Given the description of an element on the screen output the (x, y) to click on. 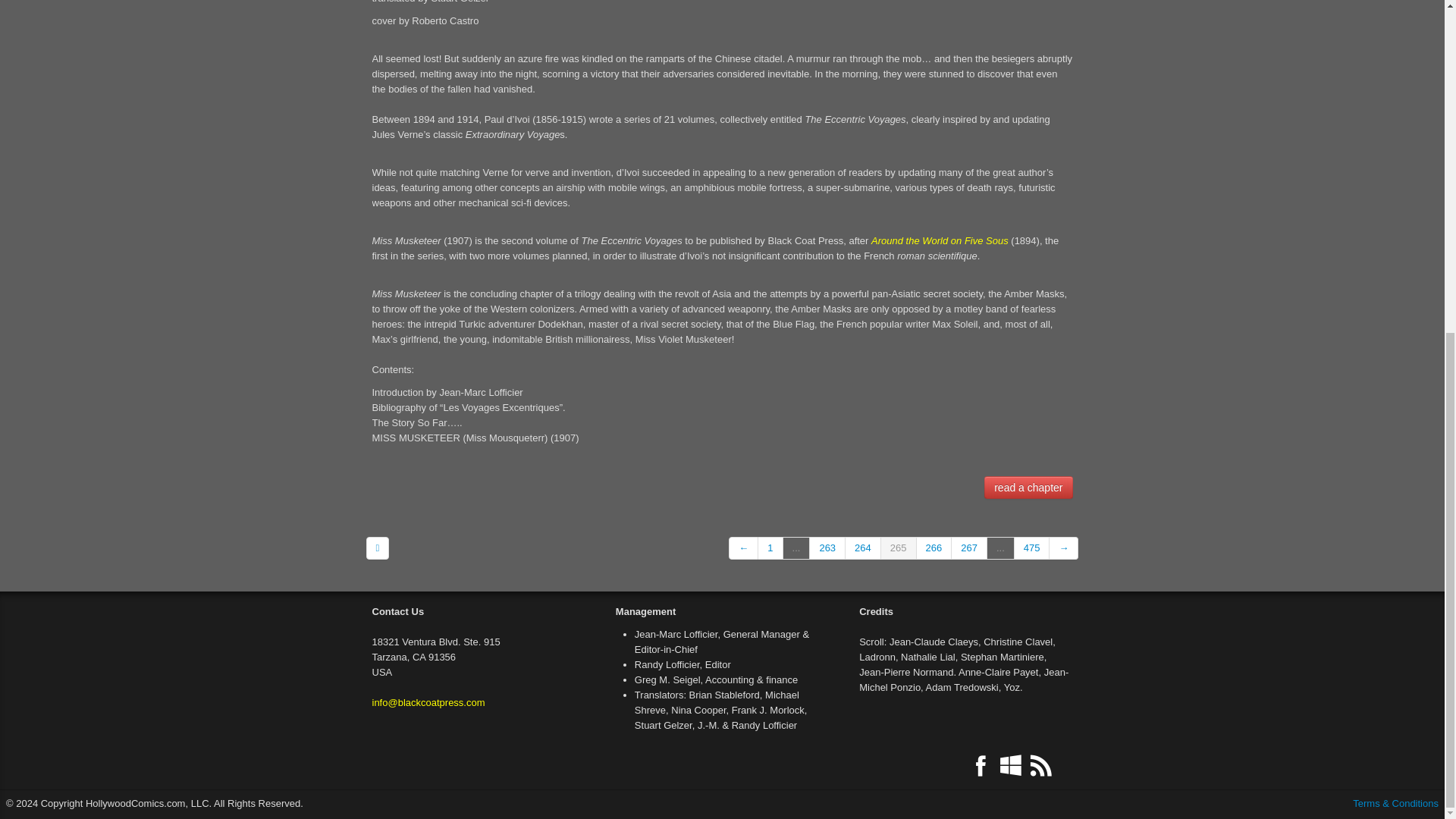
266 (934, 548)
475 (1031, 548)
Around the World on Five Sous (939, 240)
read a chapter (1027, 486)
1 (770, 548)
... (1000, 548)
267 (969, 548)
264 (862, 548)
265 (898, 548)
... (796, 548)
263 (827, 548)
